Given the description of an element on the screen output the (x, y) to click on. 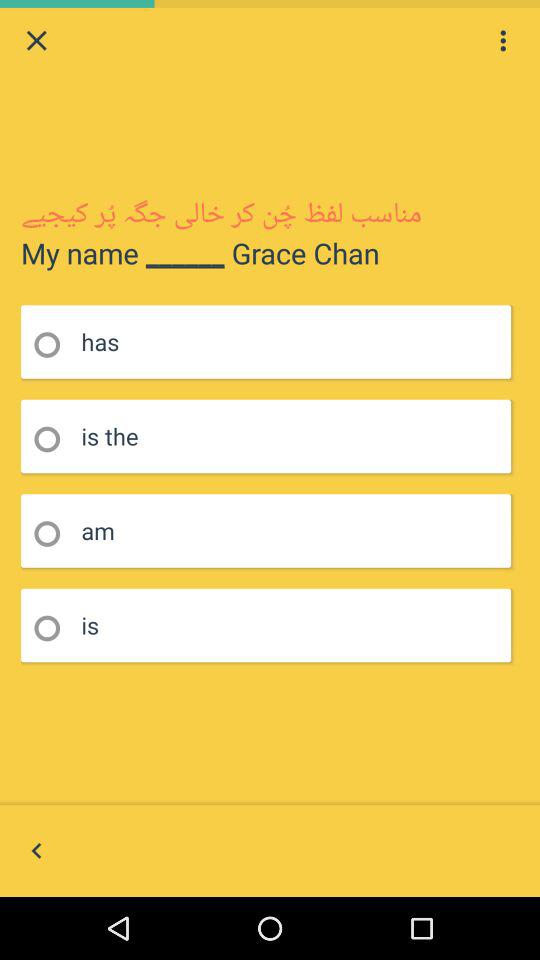
click radio button (53, 344)
